Given the description of an element on the screen output the (x, y) to click on. 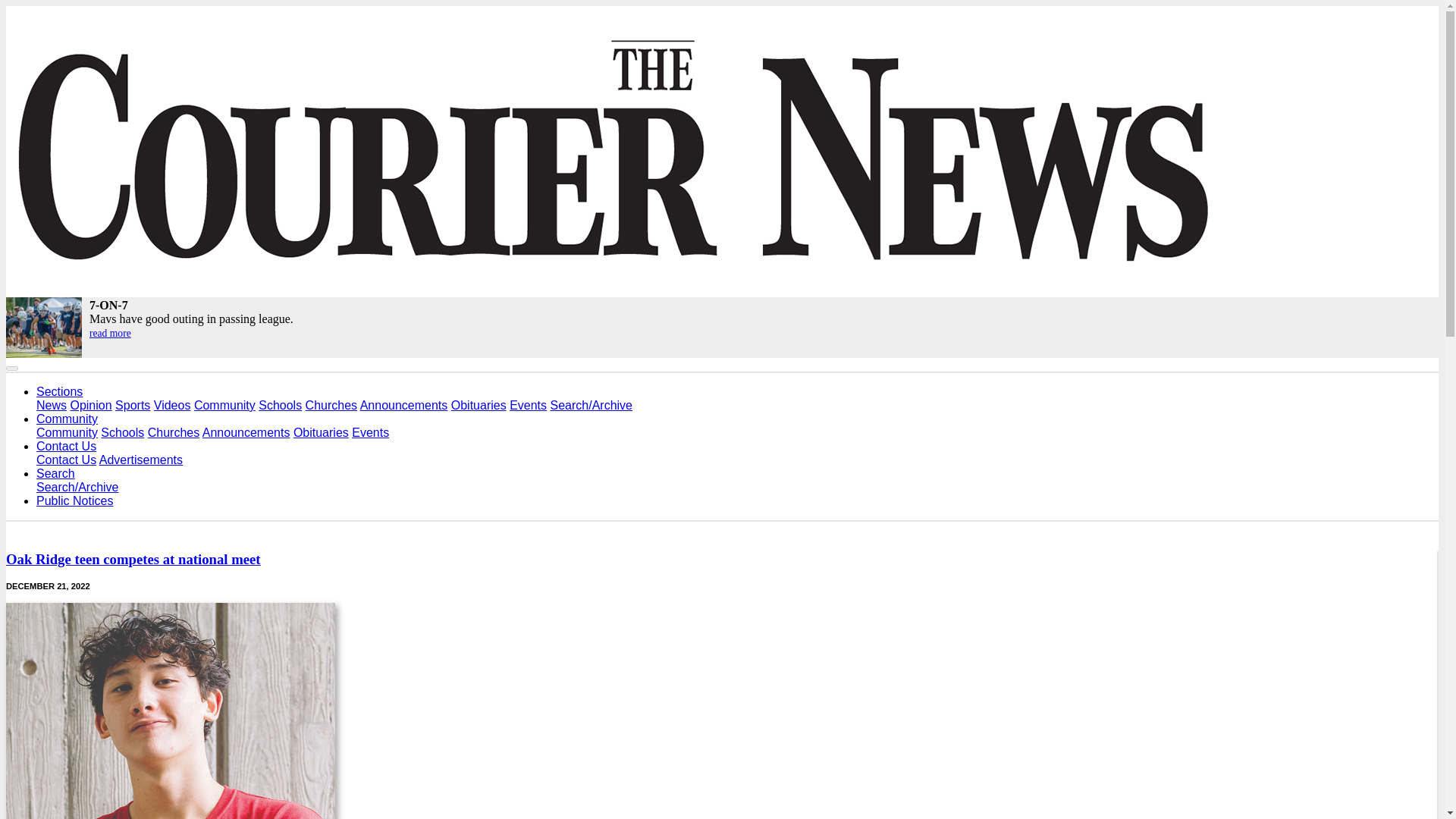
Announcements (403, 404)
Sports (132, 404)
Videos (172, 404)
Community (224, 404)
Schools (280, 404)
Community (66, 418)
Advertisements (141, 459)
News (51, 404)
Public Notices (74, 500)
Churches (330, 404)
Sections (59, 391)
Schools (122, 431)
Churches (173, 431)
Announcements (245, 431)
Oak Ridge teen competes at national meet (132, 559)
